Given the description of an element on the screen output the (x, y) to click on. 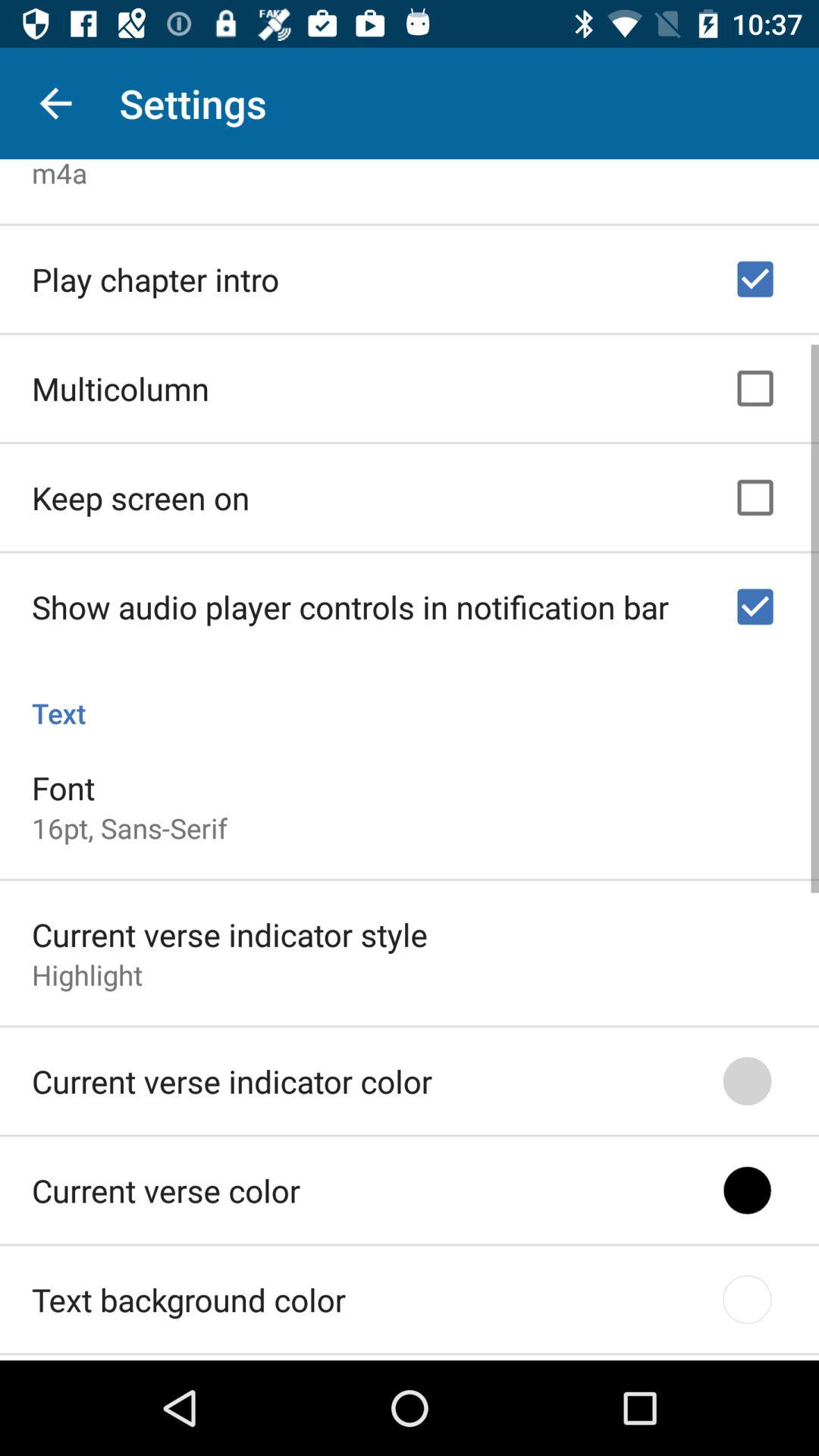
select the keep screen on icon (140, 492)
